Given the description of an element on the screen output the (x, y) to click on. 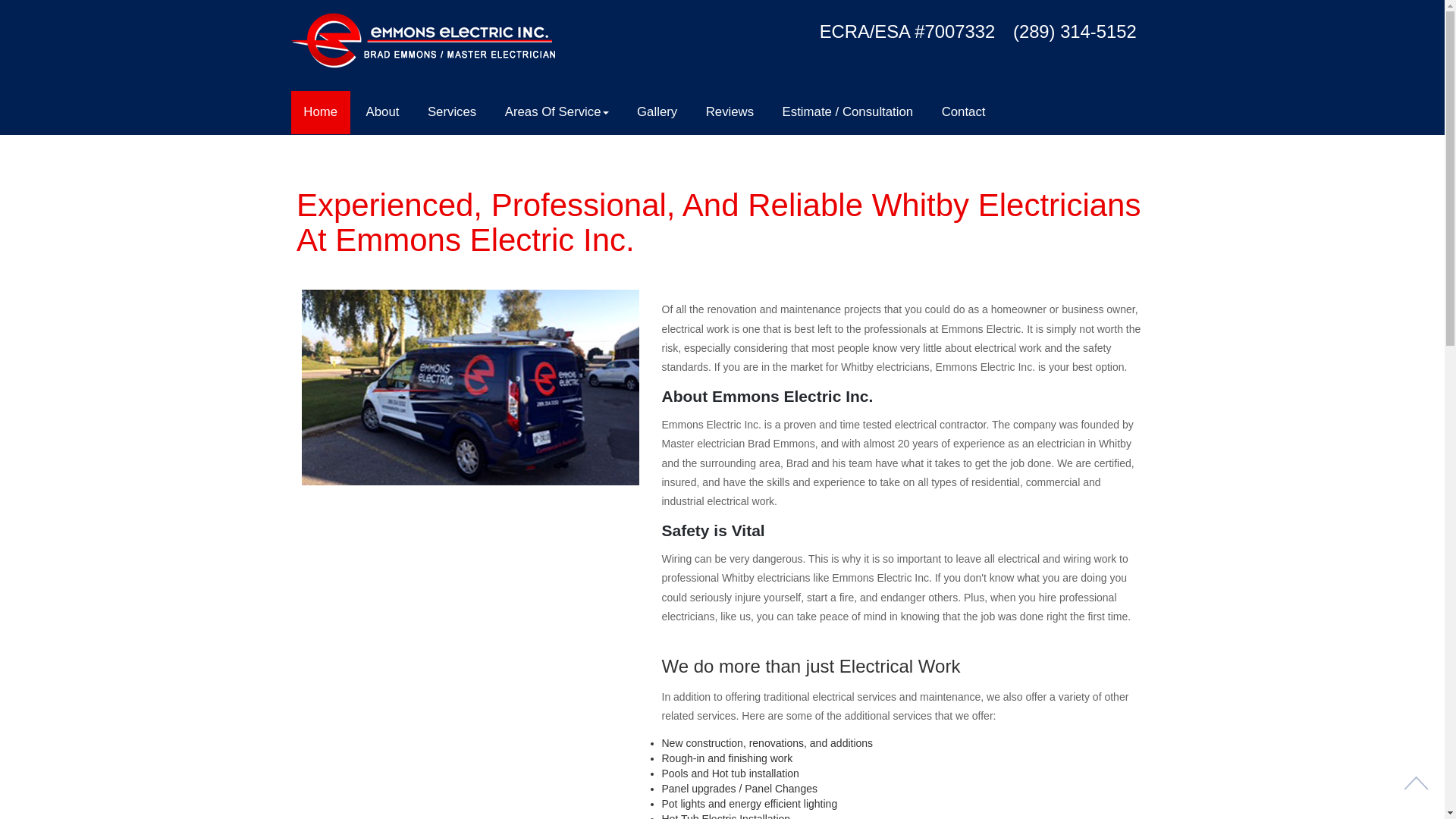
Services (451, 112)
About (382, 112)
Whitby Electricians - Homepage (885, 367)
Contact (962, 112)
Whitby electricians (885, 367)
Emmons Electric Inc (984, 367)
Reviews (730, 112)
Gallery (657, 112)
Areas Of Service (556, 112)
